Given the description of an element on the screen output the (x, y) to click on. 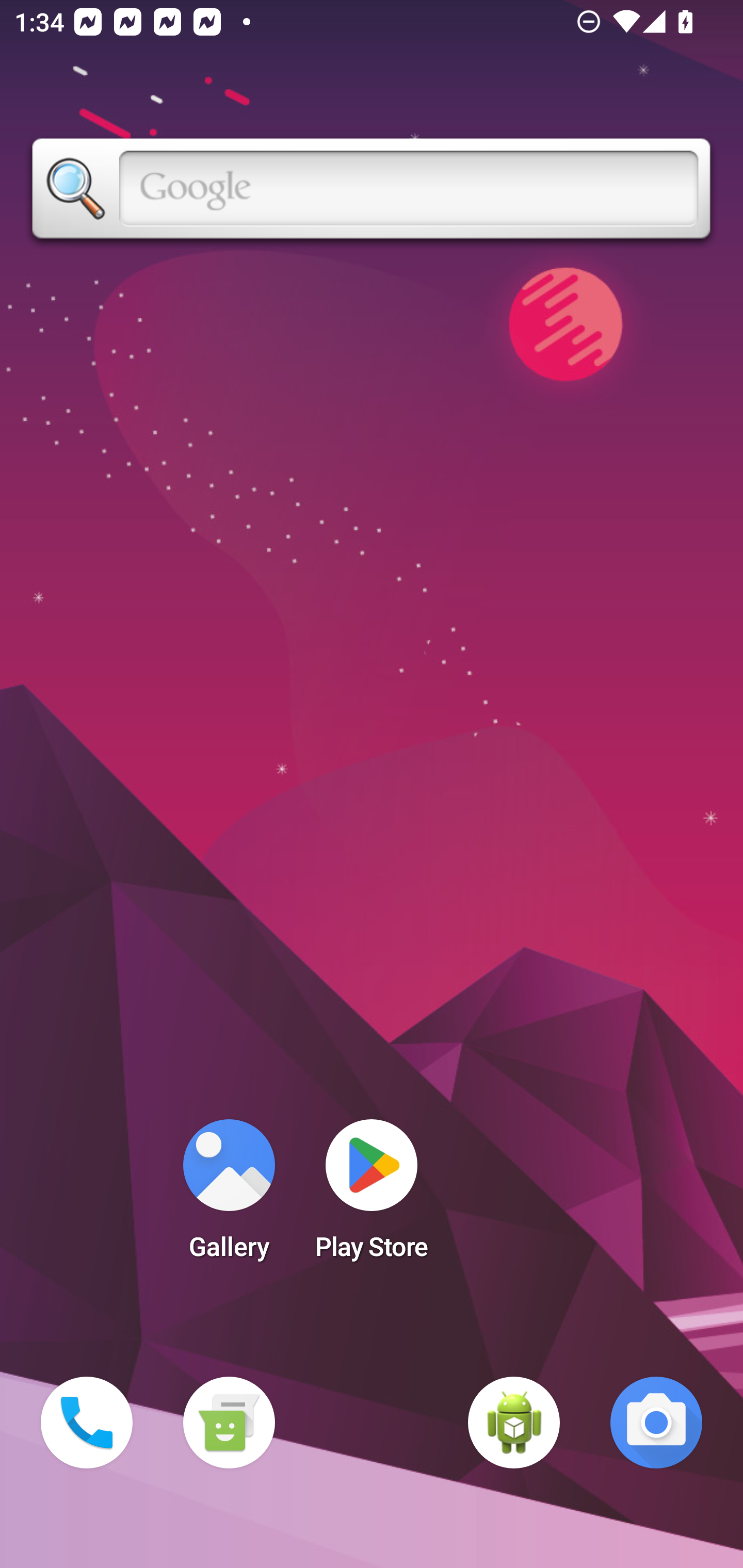
Gallery (228, 1195)
Play Store (371, 1195)
Phone (86, 1422)
Messaging (228, 1422)
WebView Browser Tester (513, 1422)
Camera (656, 1422)
